Given the description of an element on the screen output the (x, y) to click on. 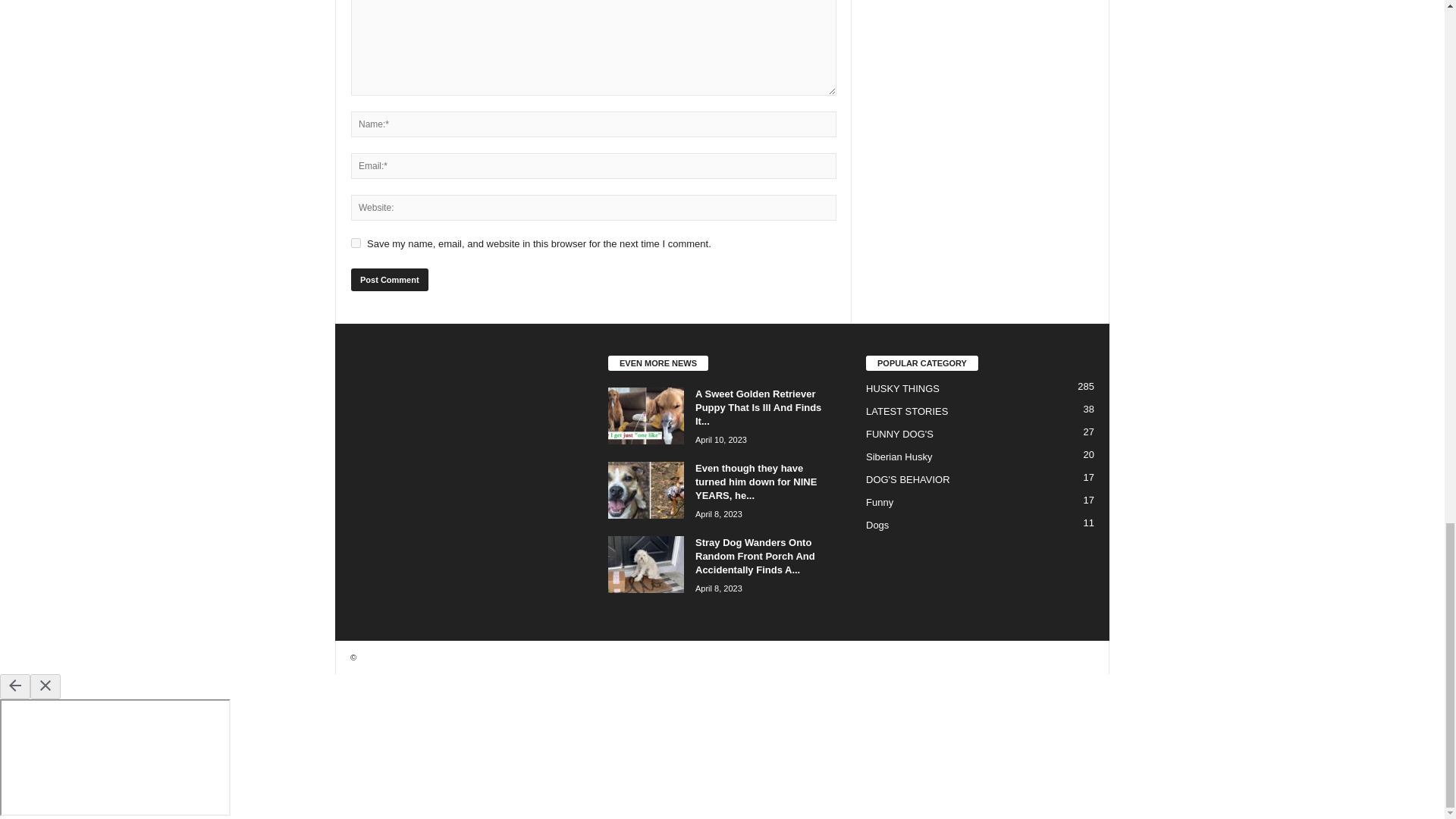
Post Comment (389, 279)
yes (355, 243)
